Given the description of an element on the screen output the (x, y) to click on. 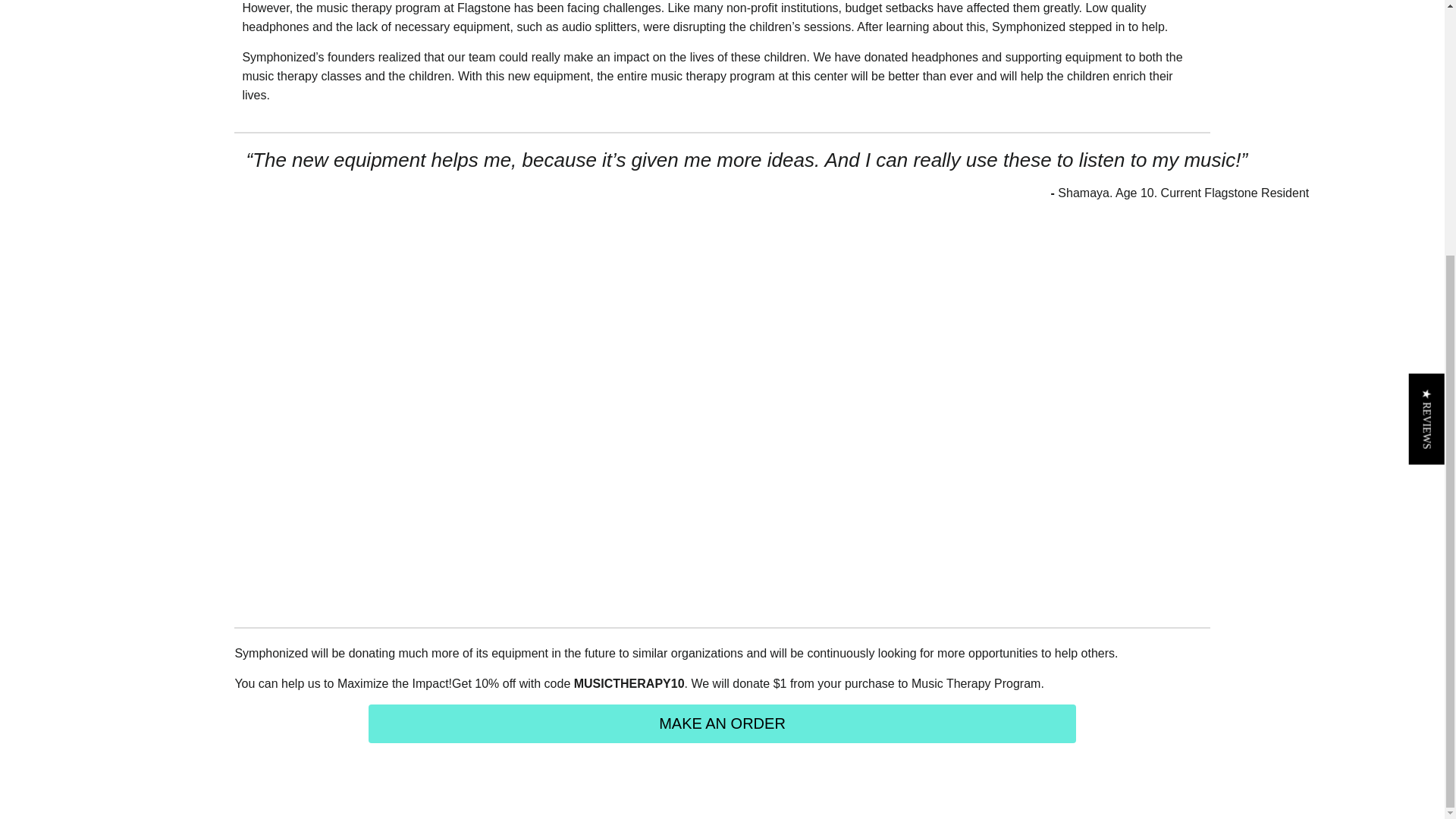
MAKE AN ORDER (721, 723)
